Given the description of an element on the screen output the (x, y) to click on. 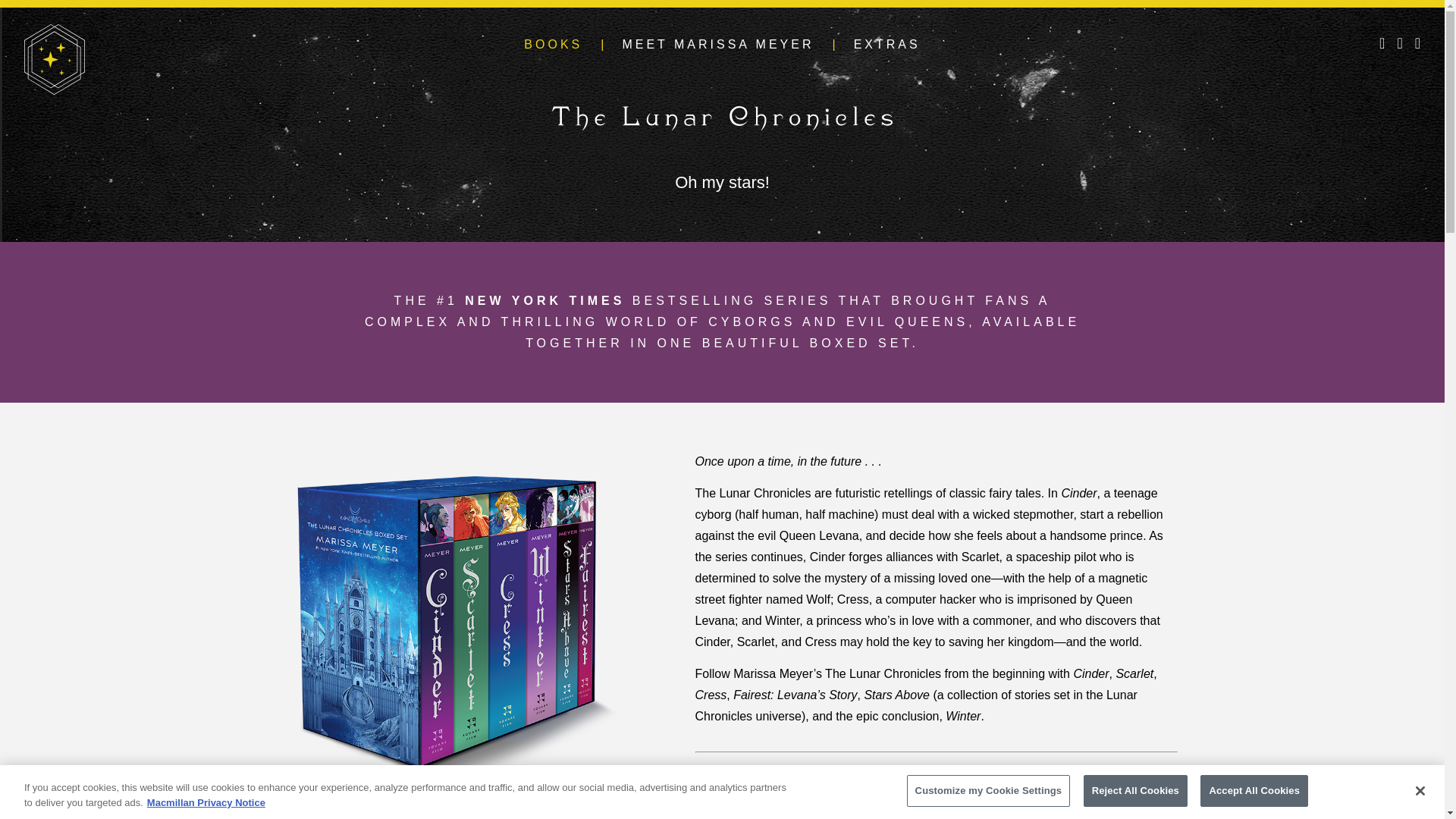
EXTRAS (886, 44)
Paperback Boxed Set (448, 619)
MEET MARISSA MEYER (717, 44)
BOOKS (553, 44)
